Given the description of an element on the screen output the (x, y) to click on. 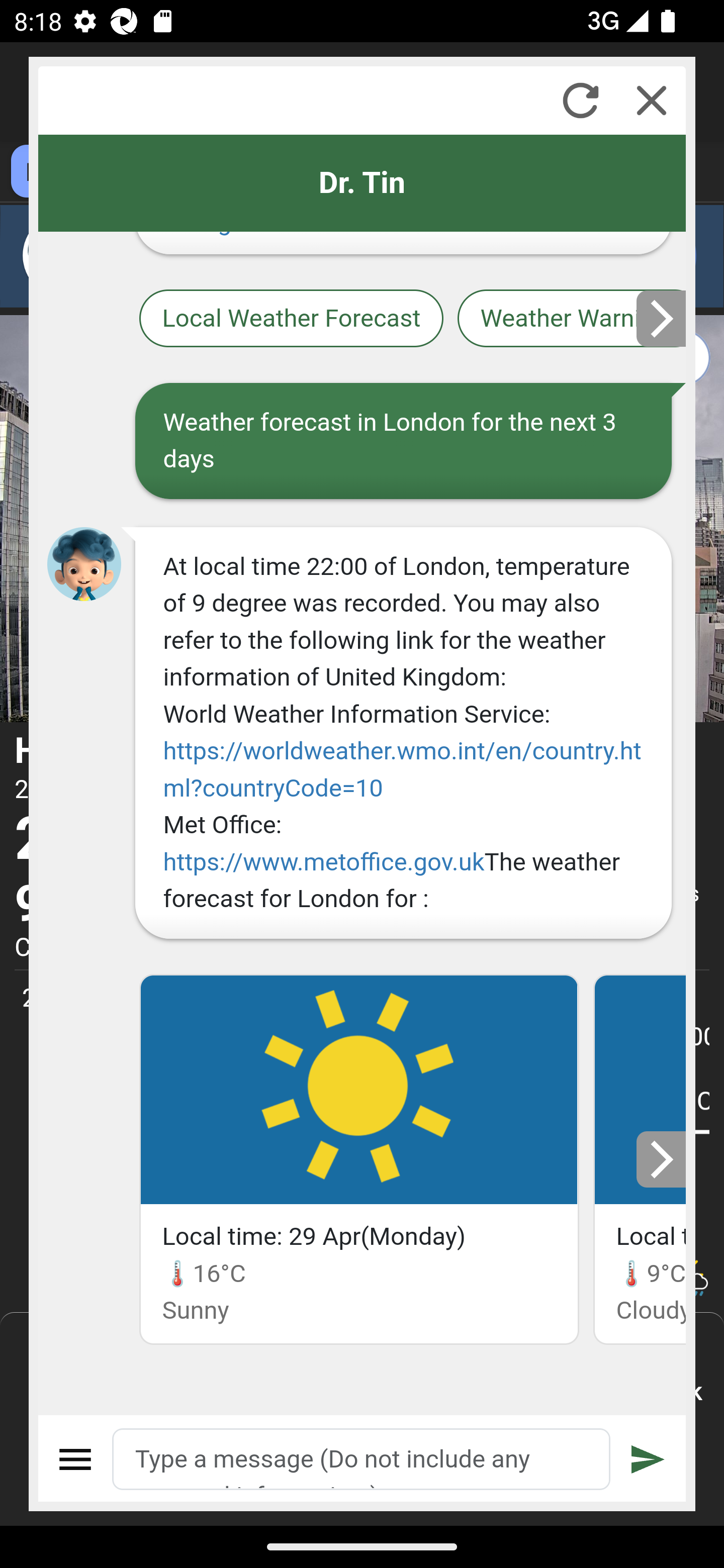
Refresh (580, 100)
Close (651, 100)
Local Weather Forecast (291, 319)
Weather Warnings (571, 319)
Next slide (661, 318)
https://www.metoffice.gov.uk (323, 861)
Next slide (661, 1159)
Menu (75, 1458)
Submit (648, 1458)
